Given the description of an element on the screen output the (x, y) to click on. 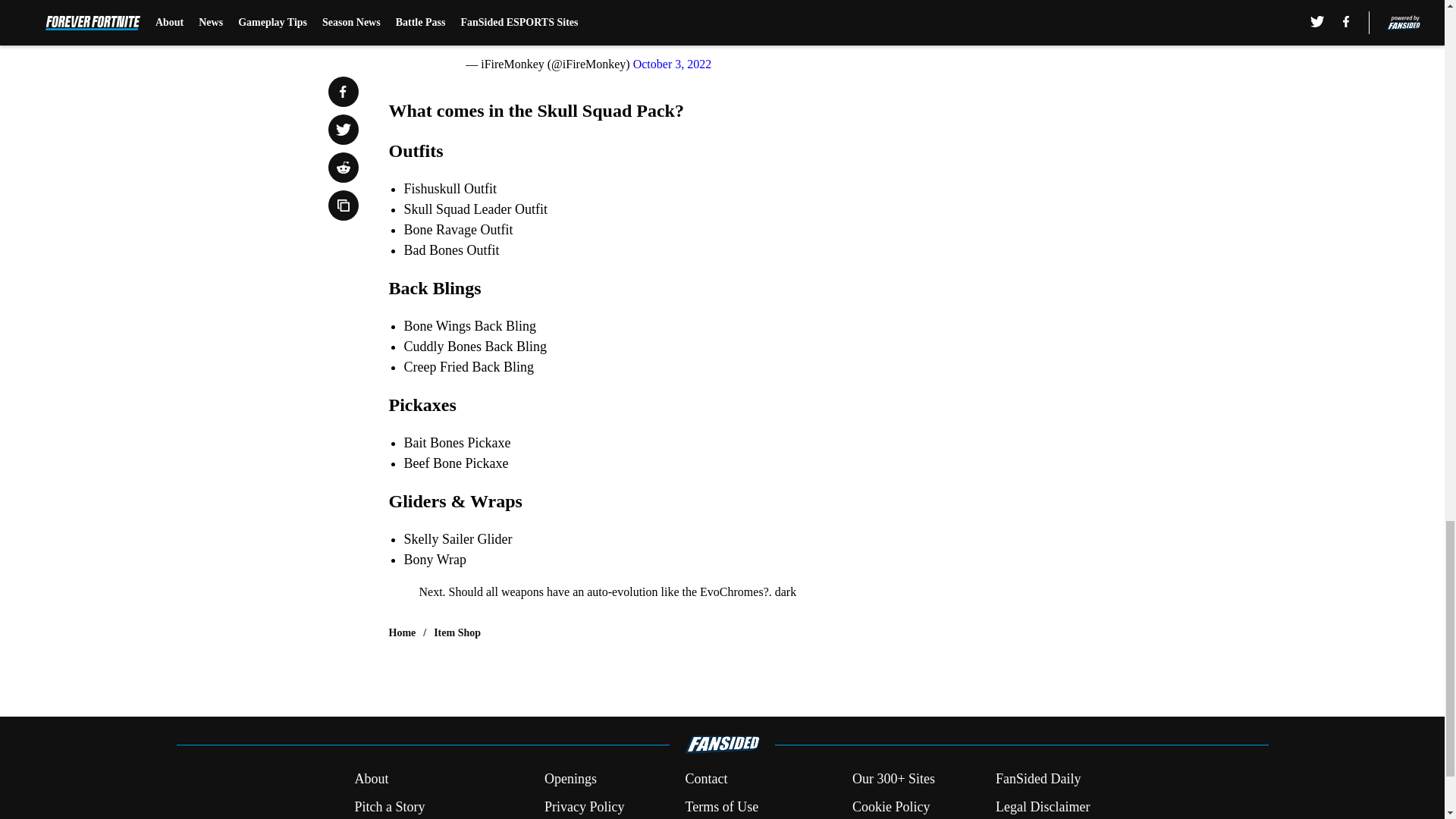
About (370, 779)
FanSided Daily (1038, 779)
Privacy Policy (584, 806)
Home (401, 632)
Legal Disclaimer (1042, 806)
Terms of Use (721, 806)
Cookie Policy (890, 806)
October 3, 2022 (672, 63)
Pitch a Story (389, 806)
Openings (570, 779)
